Given the description of an element on the screen output the (x, y) to click on. 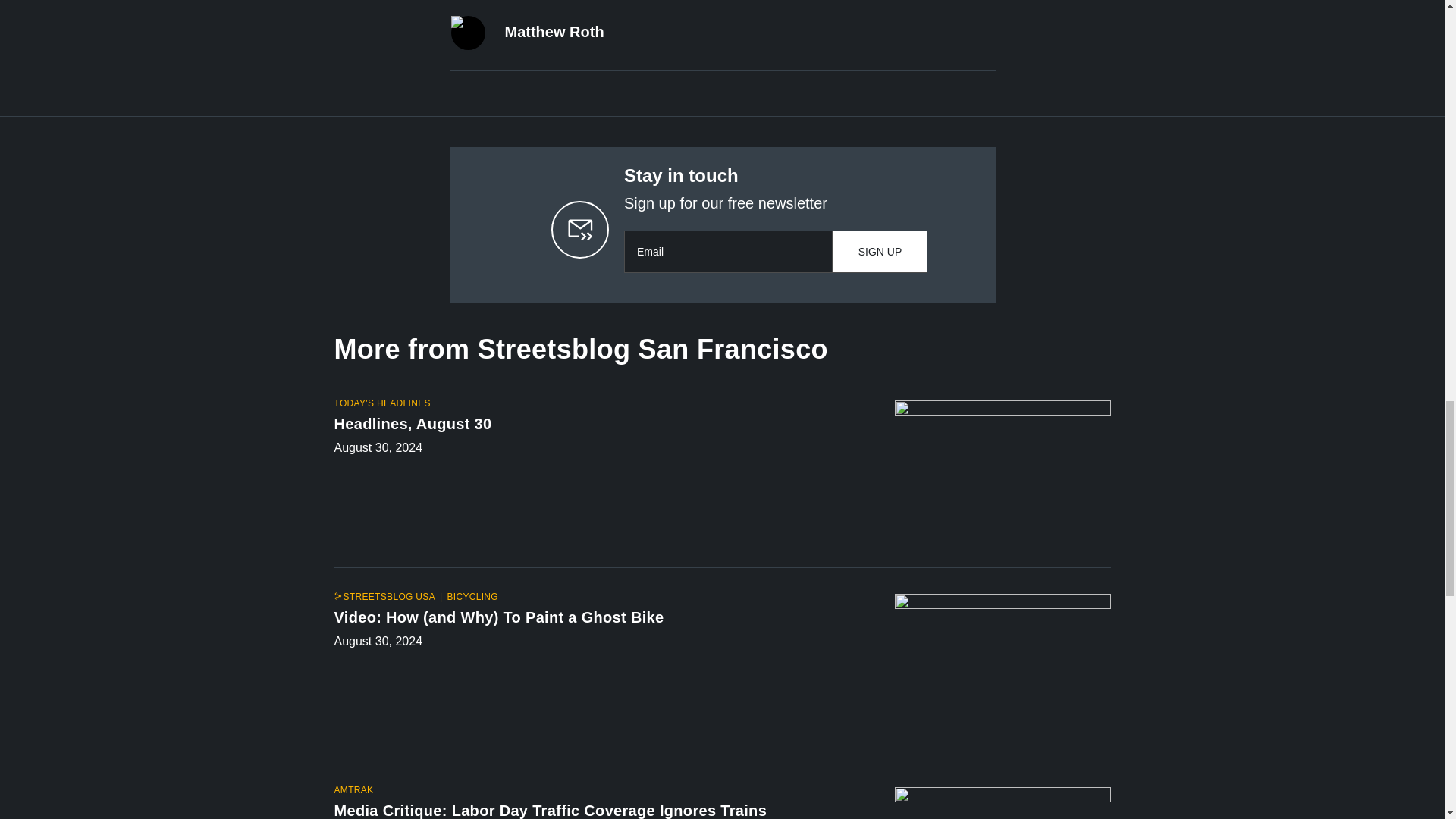
TODAY'S HEADLINES (381, 403)
SIGN UP (879, 251)
Headlines, August 30 (601, 426)
Matthew Roth (554, 32)
